Given the description of an element on the screen output the (x, y) to click on. 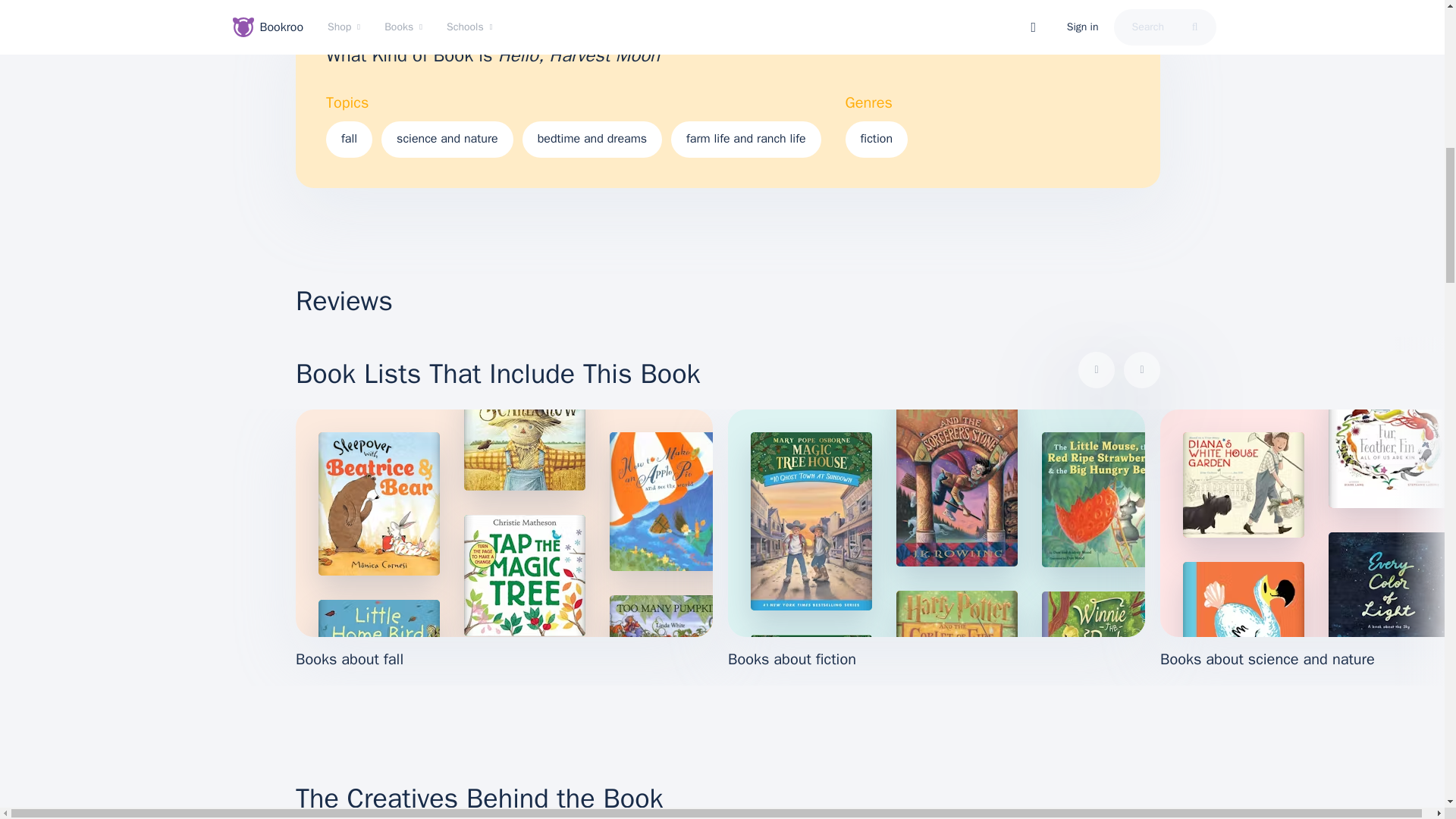
fall (349, 139)
science and nature (447, 139)
Books about fall (504, 539)
bedtime and dreams (592, 139)
Books about fiction (936, 539)
farm life and ranch life (746, 139)
fiction (876, 139)
